Given the description of an element on the screen output the (x, y) to click on. 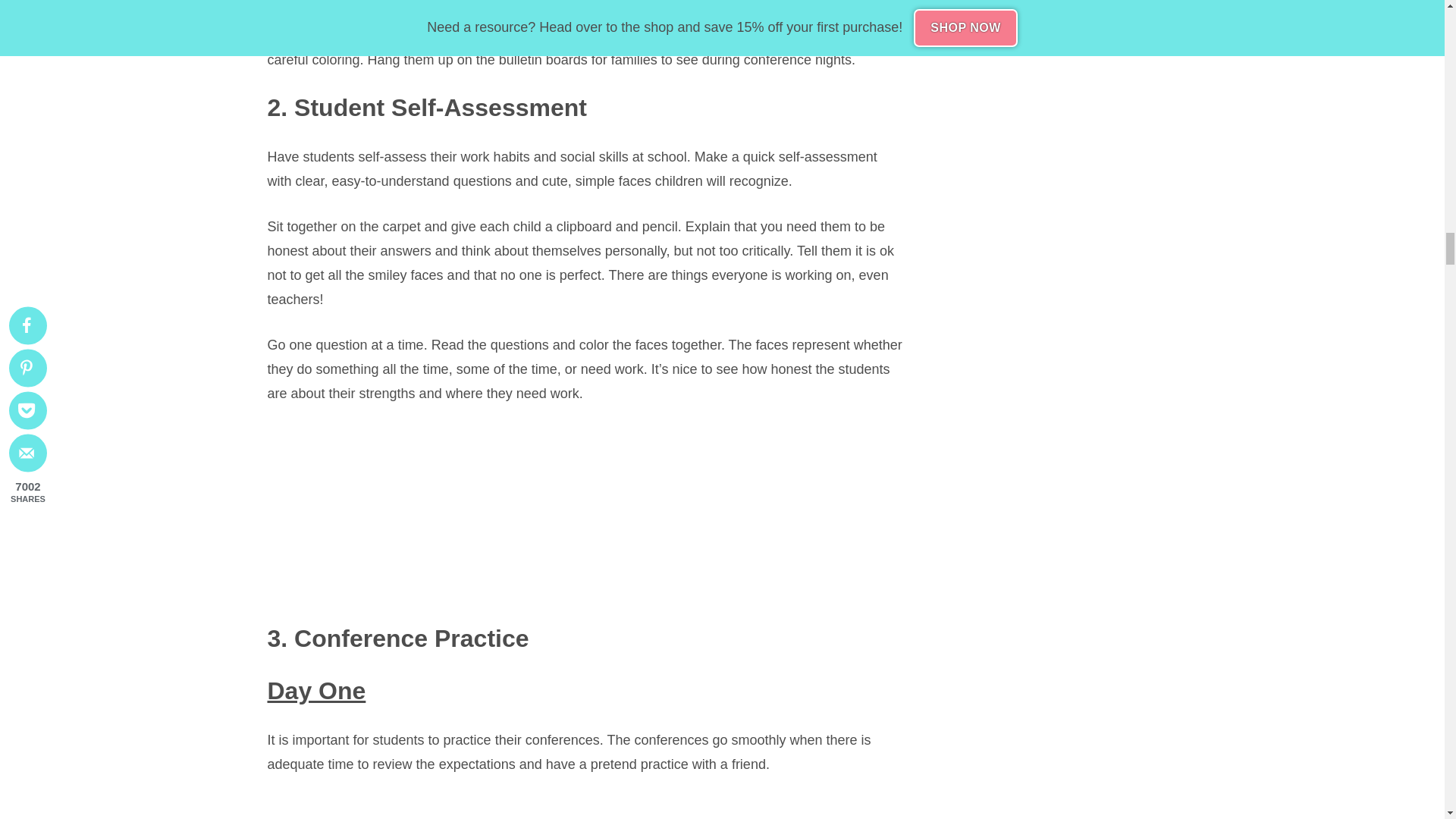
student portfolios - conference checklist (585, 808)
